Given the description of an element on the screen output the (x, y) to click on. 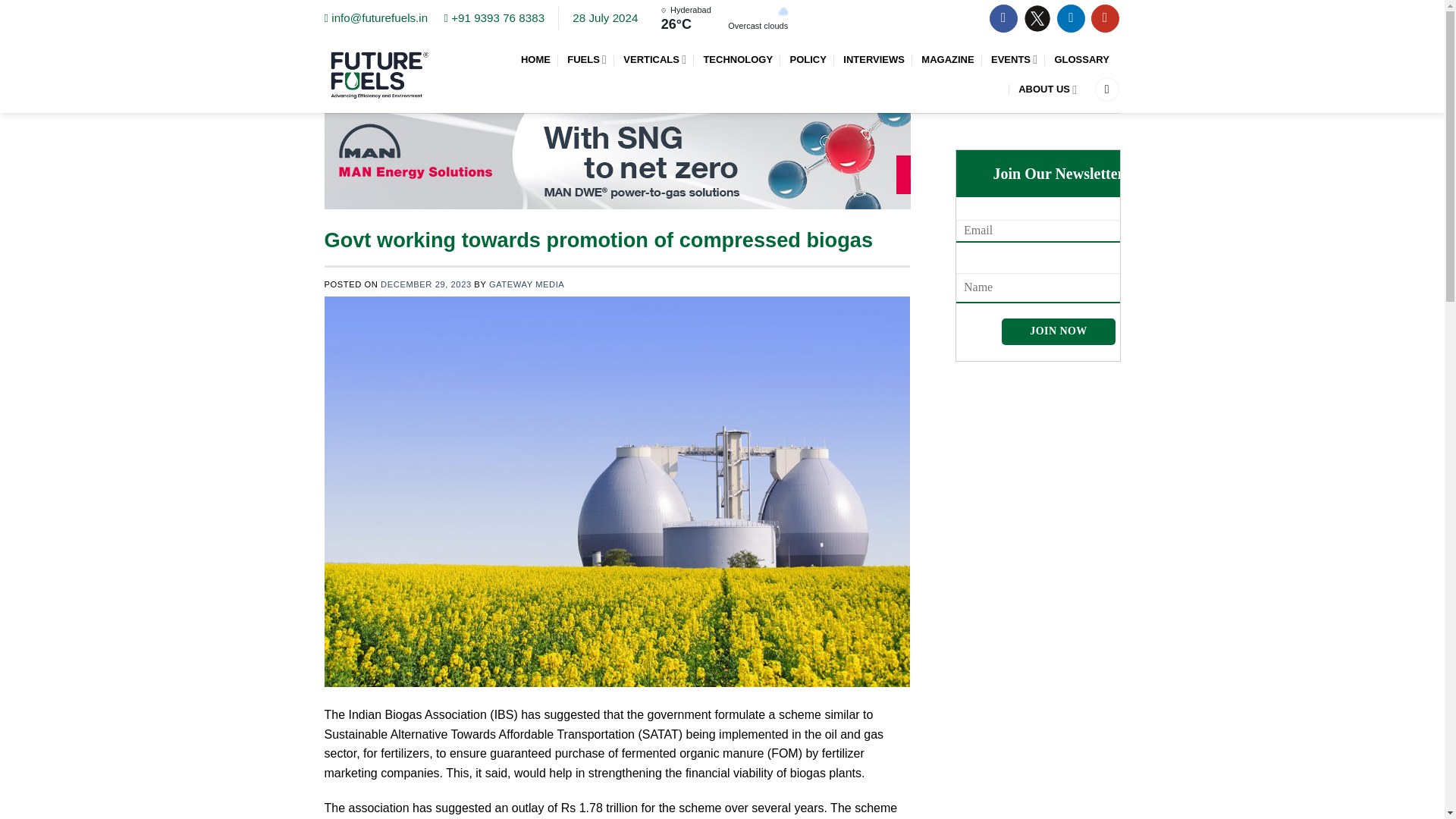
MAGAZINE (947, 59)
POLICY (807, 59)
GLOSSARY  (1083, 59)
TECHNOLOGY (738, 59)
Join Now (1058, 331)
INTERVIEWS (873, 59)
HOME (535, 59)
VERTICALS (654, 59)
EVENTS (1013, 59)
GATEWAY MEDIA (526, 284)
FUELS (587, 59)
futurefuels - Advancing Efficiency and Environment (379, 74)
DECEMBER 29, 2023 (425, 284)
ABOUT US (1047, 89)
